Given the description of an element on the screen output the (x, y) to click on. 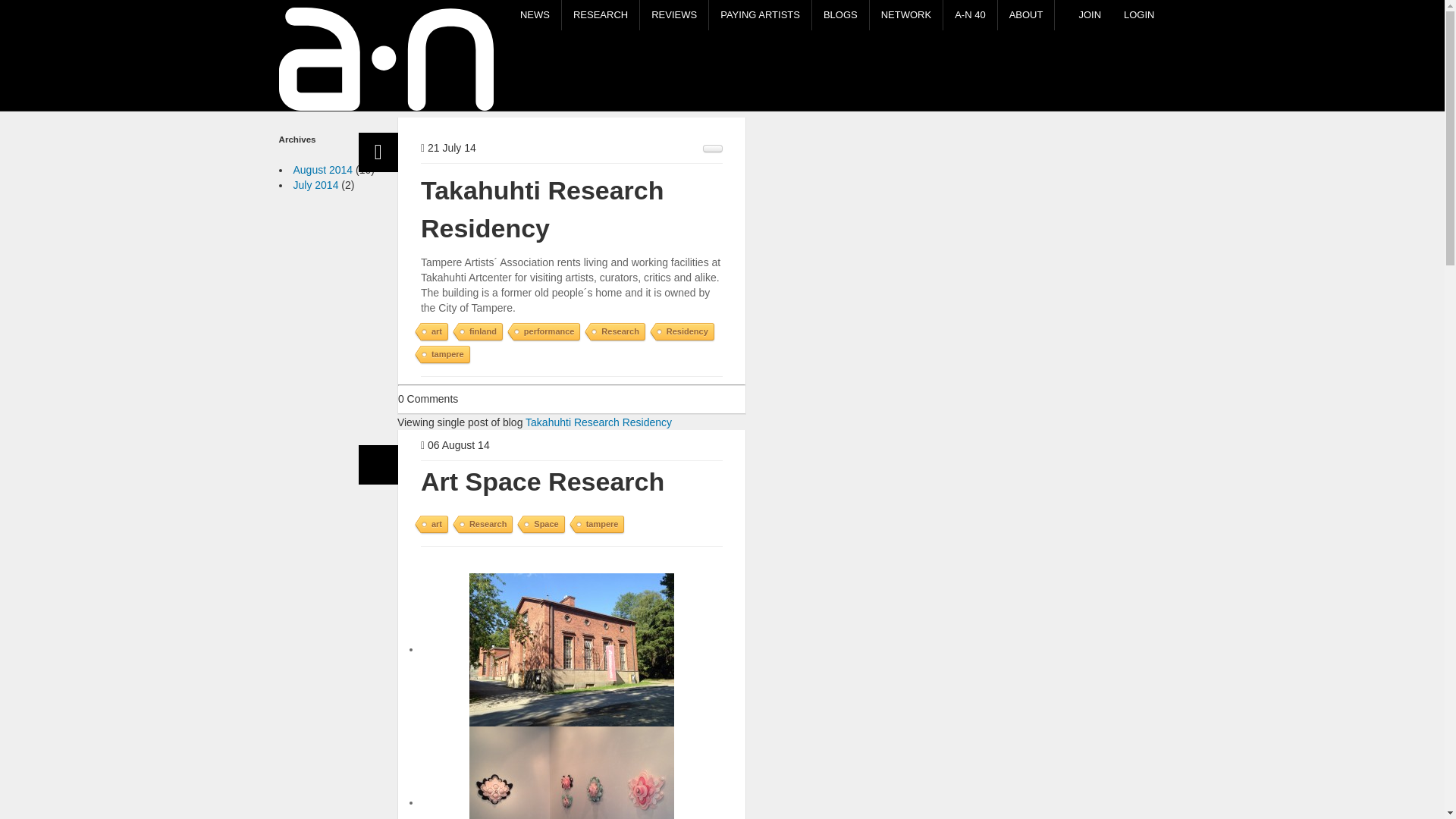
ABOUT (1025, 15)
BLOGS (344, 88)
News stories (534, 15)
PAYING ARTISTS (759, 15)
About (1025, 15)
BLOGS (840, 15)
REVIEWS (673, 15)
Subscribe to RSS (712, 148)
Explore (304, 42)
Campaigns stories (759, 15)
